Given the description of an element on the screen output the (x, y) to click on. 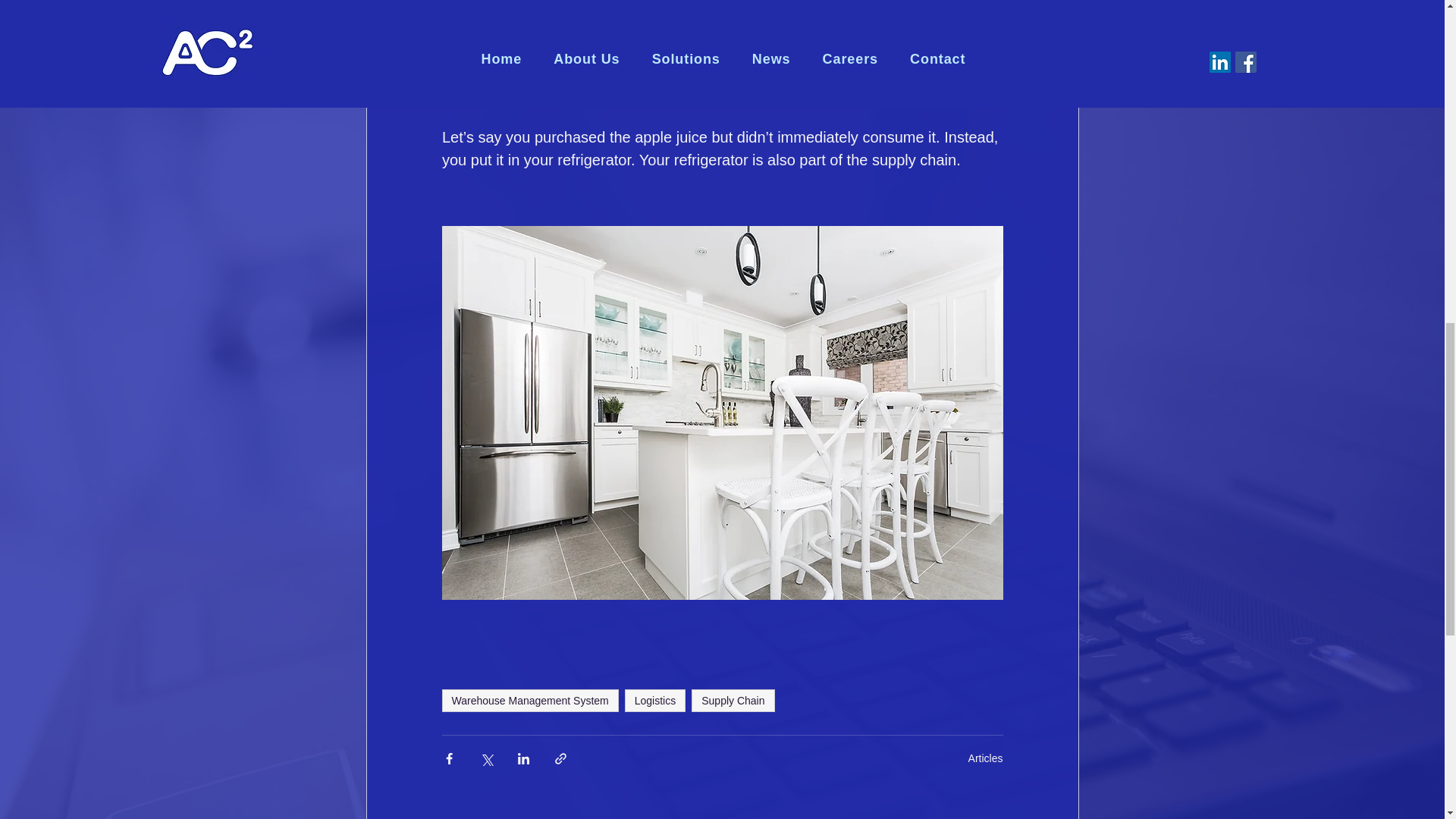
Logistics (654, 700)
Supply Chain (732, 700)
Warehouse Management System (529, 700)
Articles (985, 758)
